Given the description of an element on the screen output the (x, y) to click on. 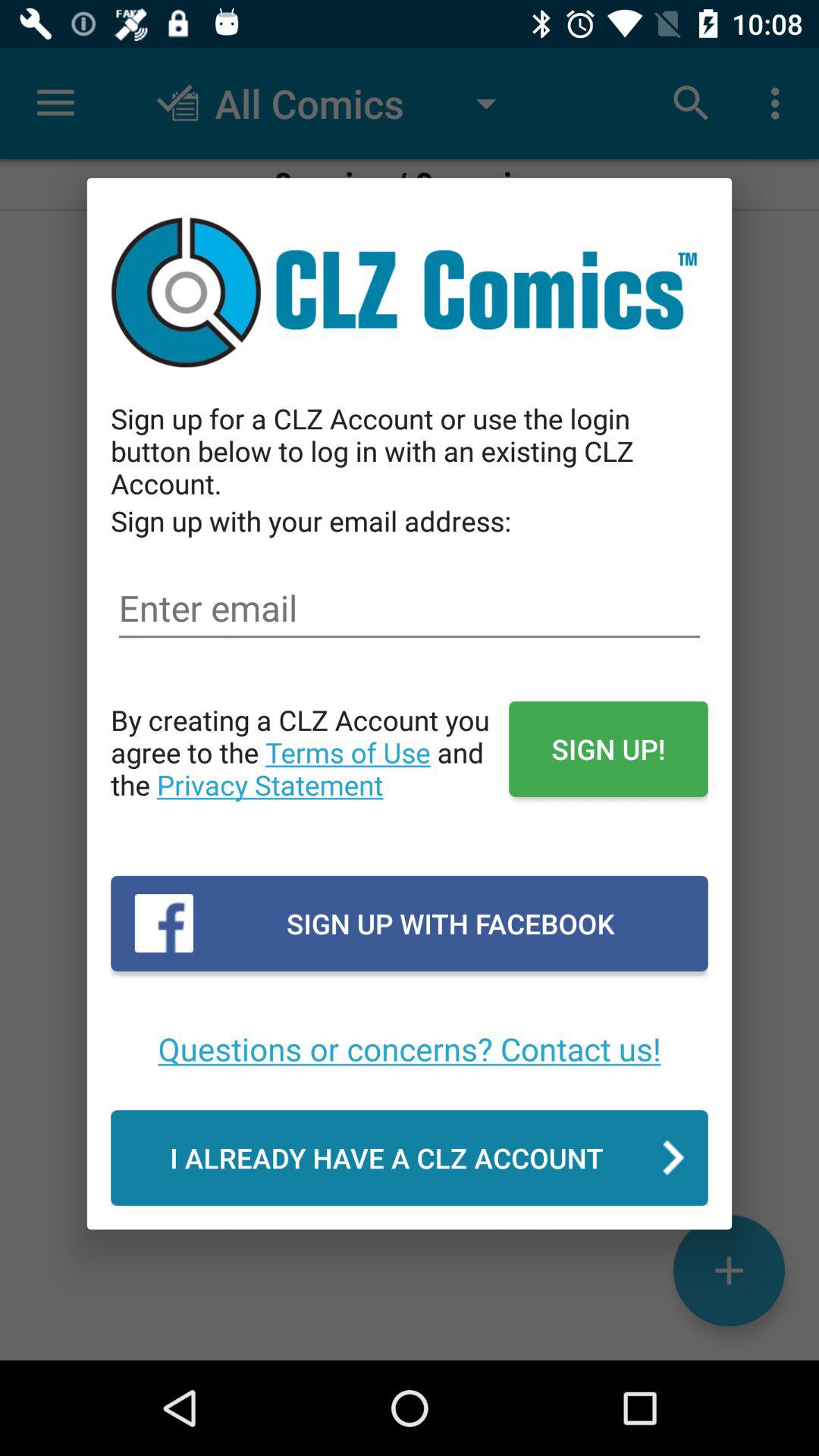
enter email (409, 608)
